Given the description of an element on the screen output the (x, y) to click on. 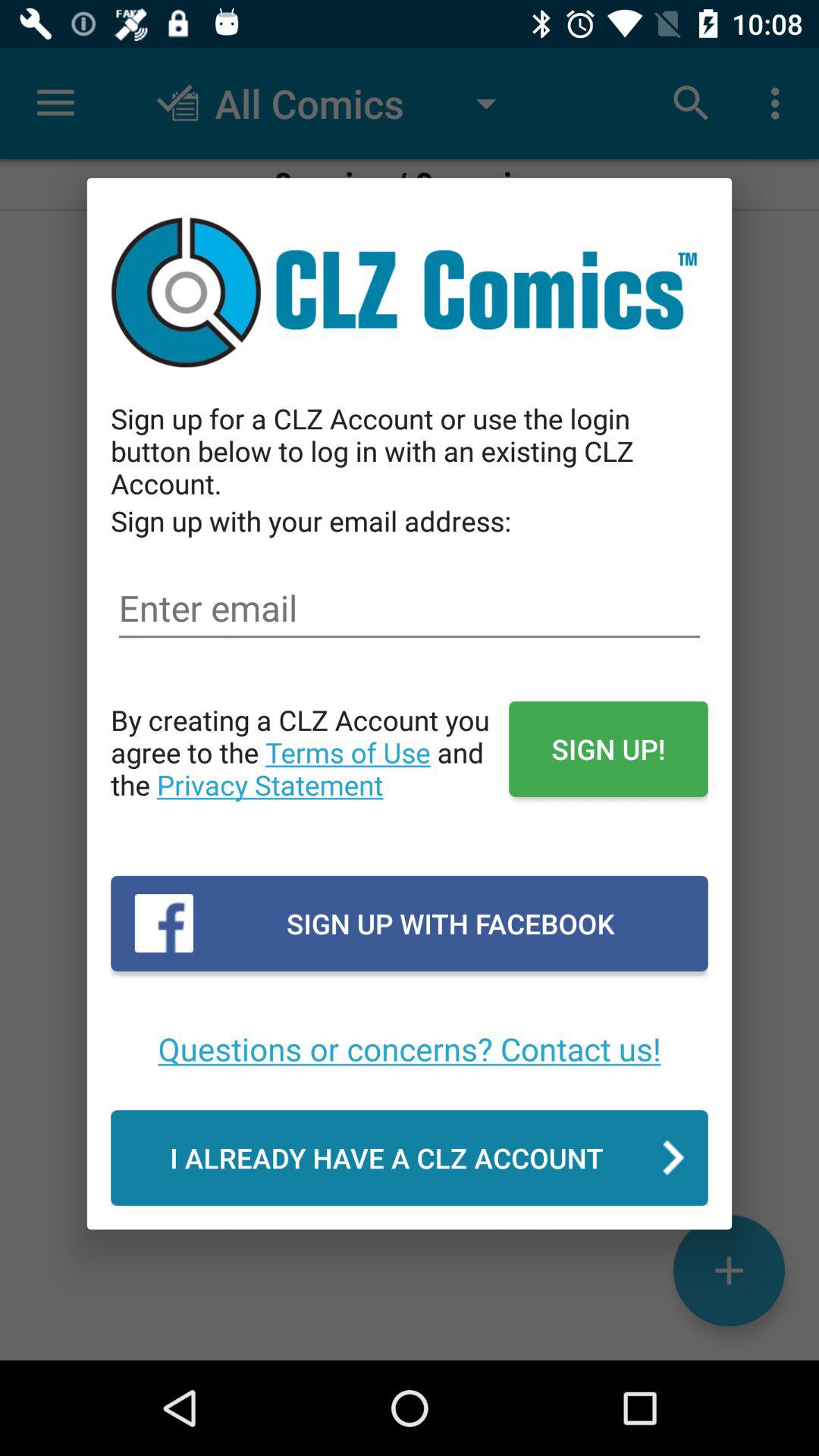
enter email (409, 608)
